Given the description of an element on the screen output the (x, y) to click on. 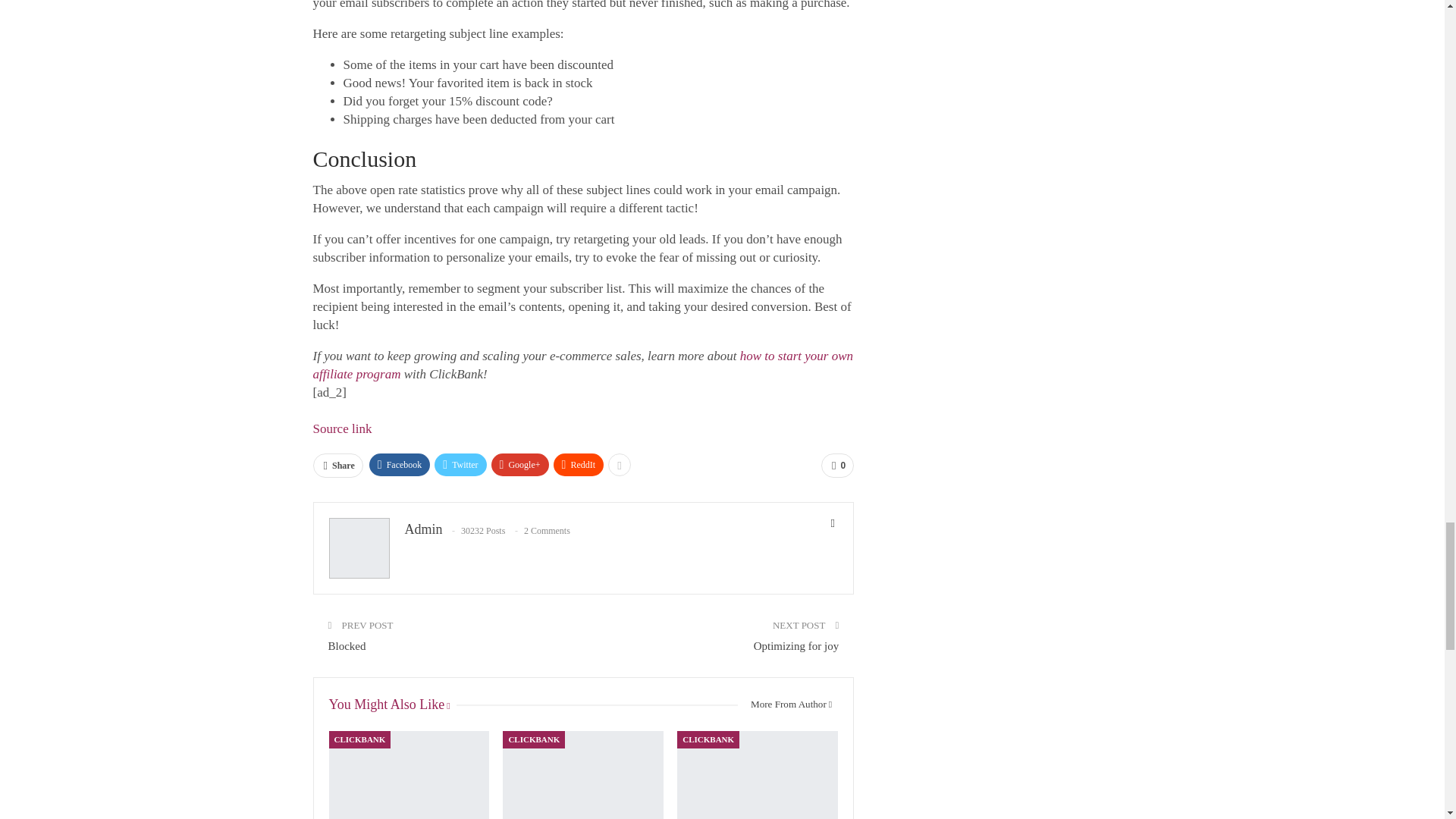
4 Best Email Subject Lines To Improve Your Open Rate in 2024 (757, 775)
4 Best Email Subject Lines To Improve Your Open Rate in 2024 (409, 775)
4 Best Email Subject Lines To Improve Your Open Rate in 2024 (582, 775)
